Given the description of an element on the screen output the (x, y) to click on. 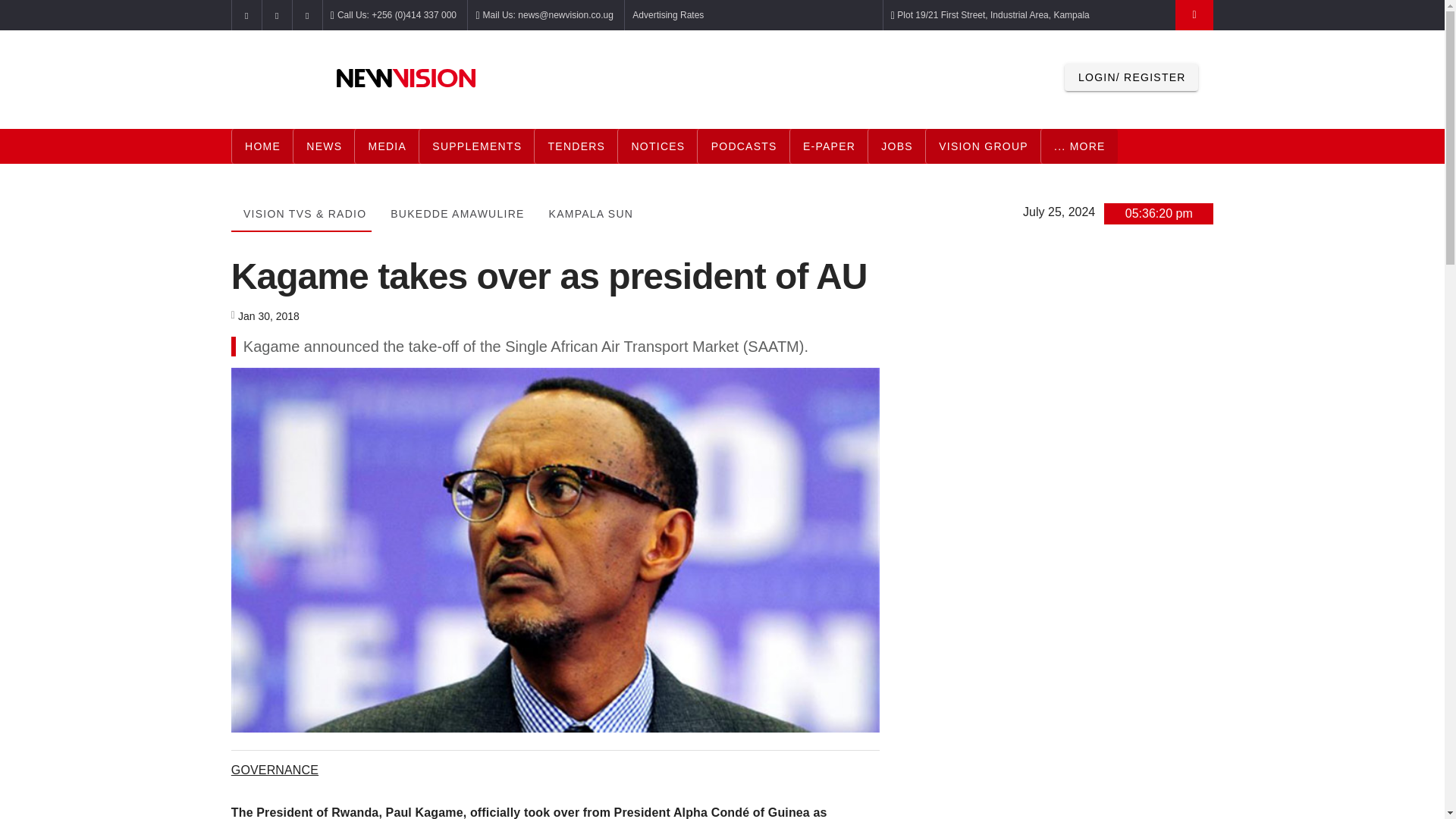
TENDERS (575, 145)
NOTICES (657, 145)
E-PAPER (828, 145)
PODCASTS (743, 145)
PODCASTS (743, 145)
Notices (657, 145)
SUPPLEMENTS (476, 145)
MEDIA (386, 145)
Supplements (476, 145)
Home (261, 145)
Advertising Rates (667, 15)
JOBS (895, 145)
JOBS (895, 145)
NEWS (322, 145)
E-PAPER (828, 145)
